Given the description of an element on the screen output the (x, y) to click on. 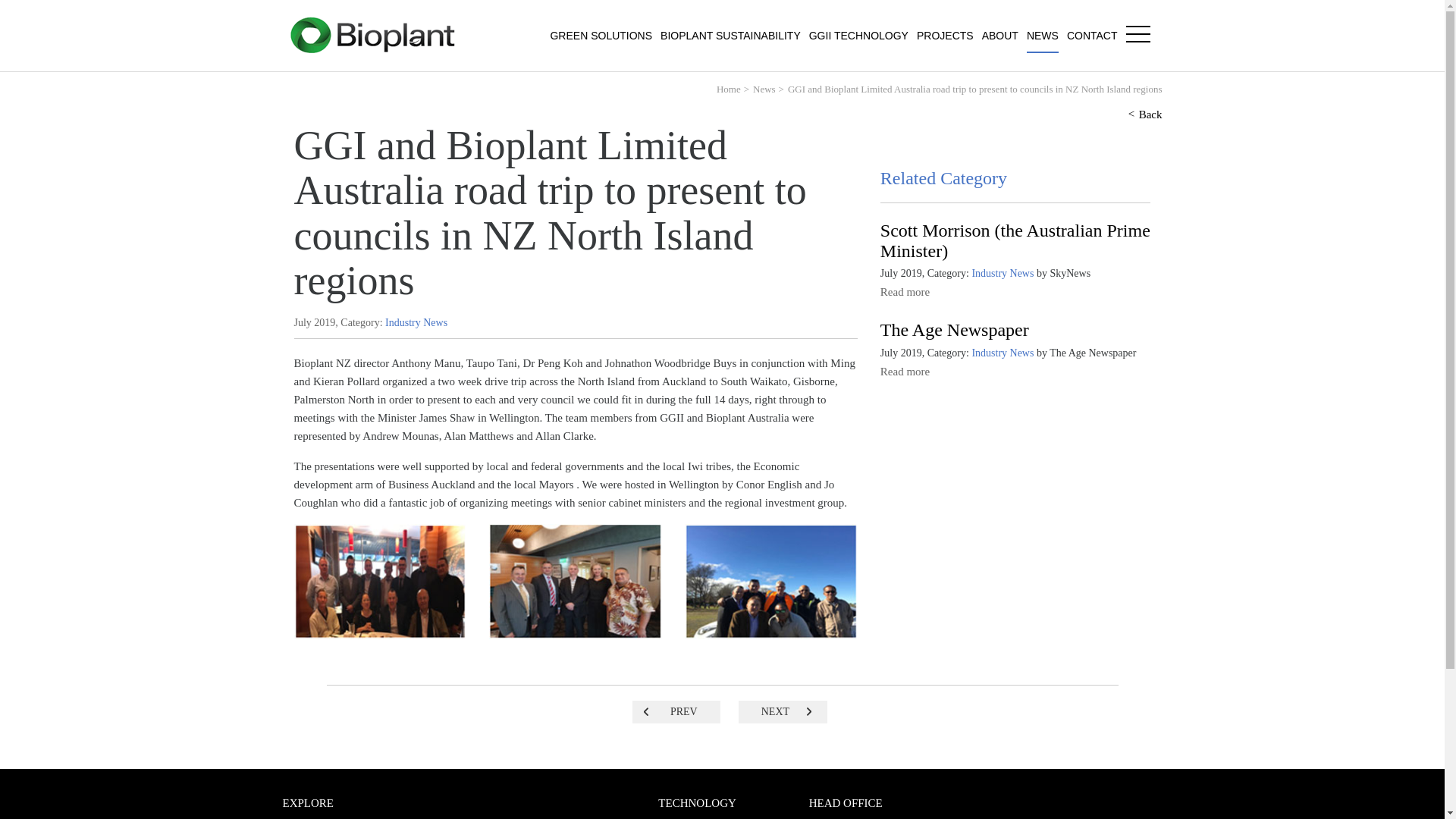
Back (1149, 114)
NEXT (782, 712)
Read more (905, 371)
ABOUT (999, 35)
Read more (905, 291)
NEWS (1042, 36)
GGII TECHNOLOGY (858, 35)
Industry News (415, 322)
Back (1149, 114)
Industry News (1002, 352)
